Given the description of an element on the screen output the (x, y) to click on. 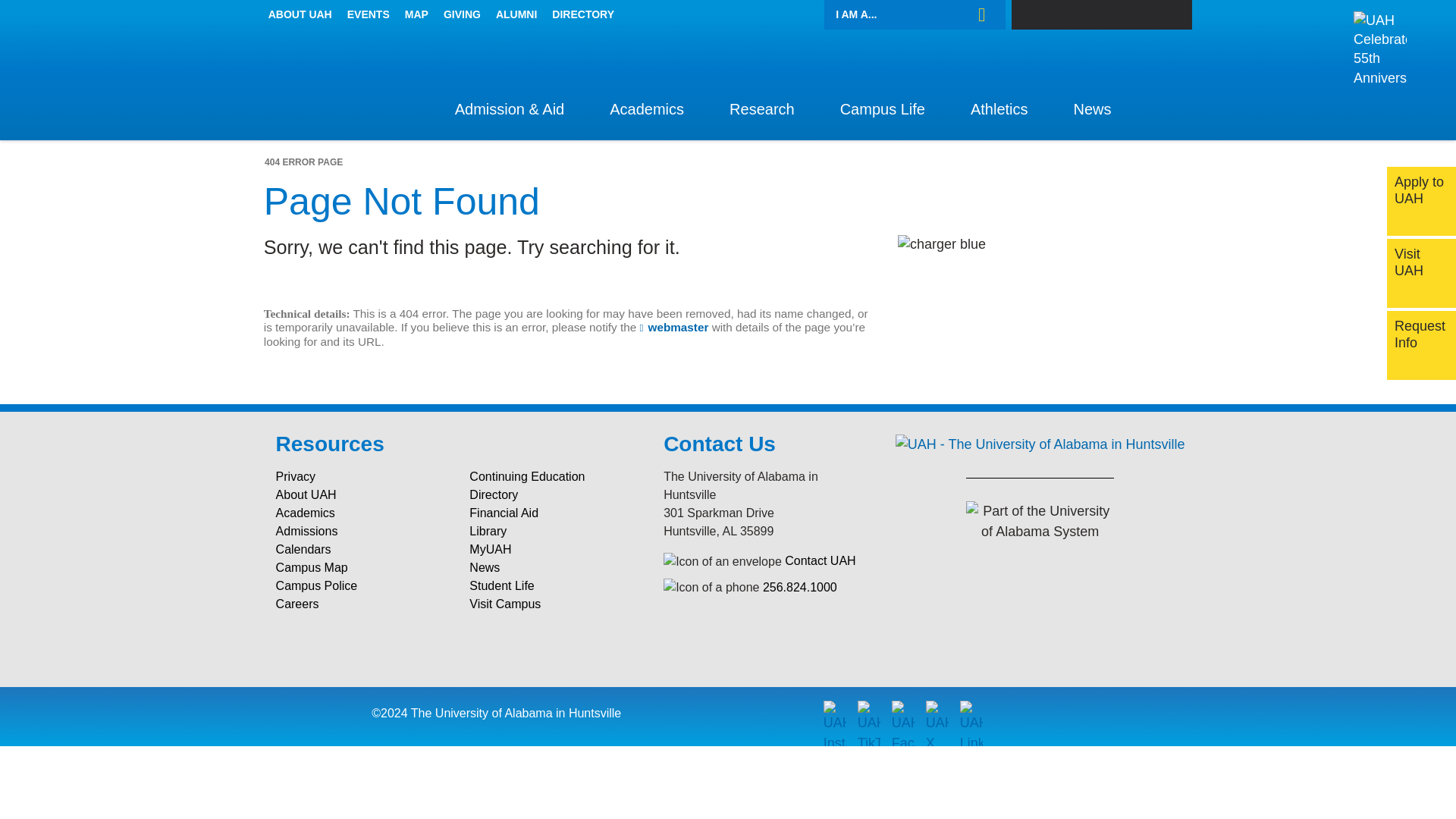
UAH Careers (361, 604)
MAP (416, 15)
Faculty, Staff, and Student Directory (582, 15)
GIVING (461, 15)
Academics (646, 116)
I AM A... (914, 14)
About the University of Alabama in Huntsville (299, 15)
UAH Academics (361, 513)
ABOUT UAH (299, 15)
UAH Map (361, 567)
